Given the description of an element on the screen output the (x, y) to click on. 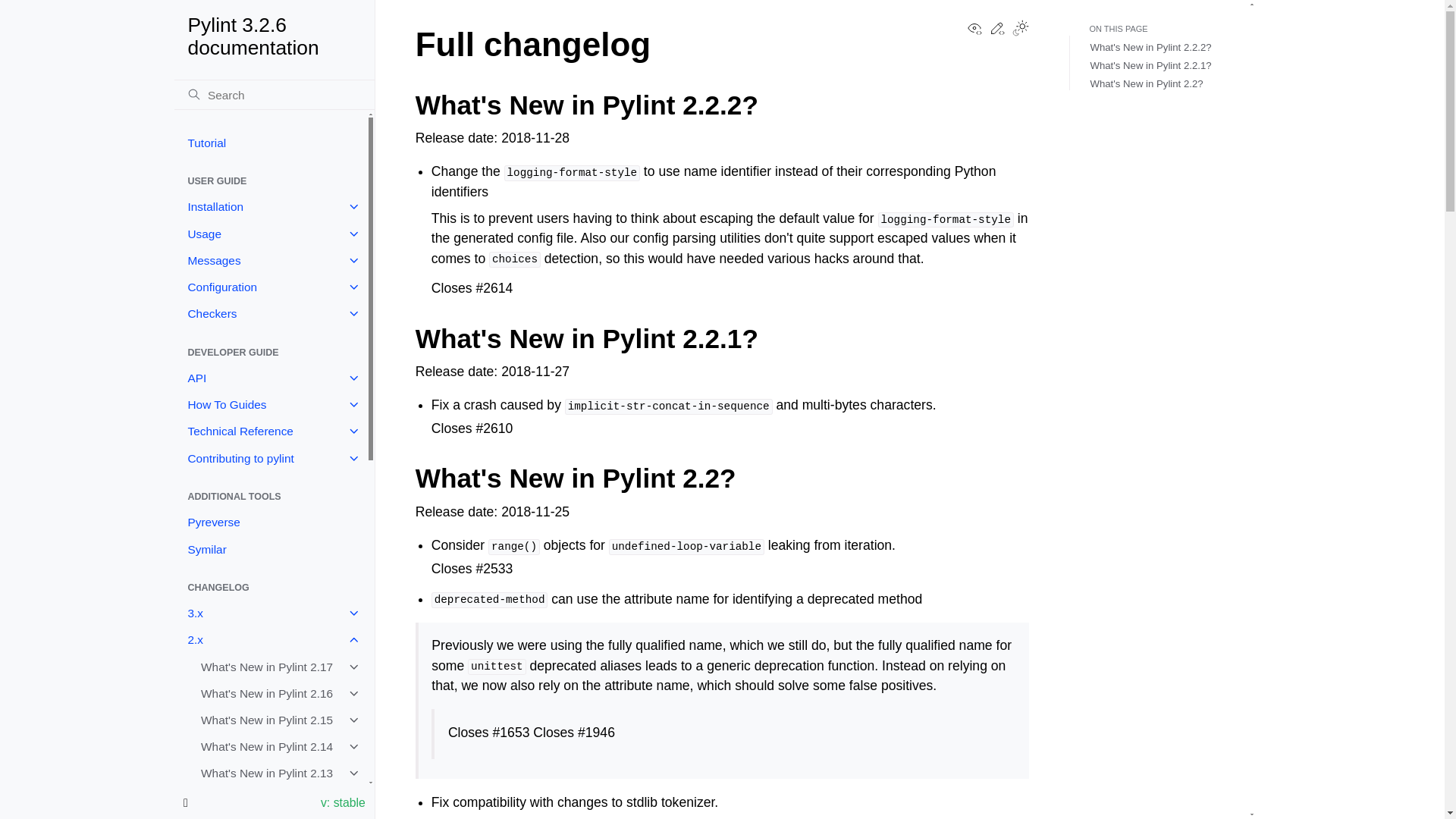
Messages (270, 260)
View this page (974, 31)
Pylint 3.2.6 documentation (274, 36)
Tutorial (270, 142)
Installation (270, 207)
Usage (270, 233)
Edit this page (997, 31)
